Given the description of an element on the screen output the (x, y) to click on. 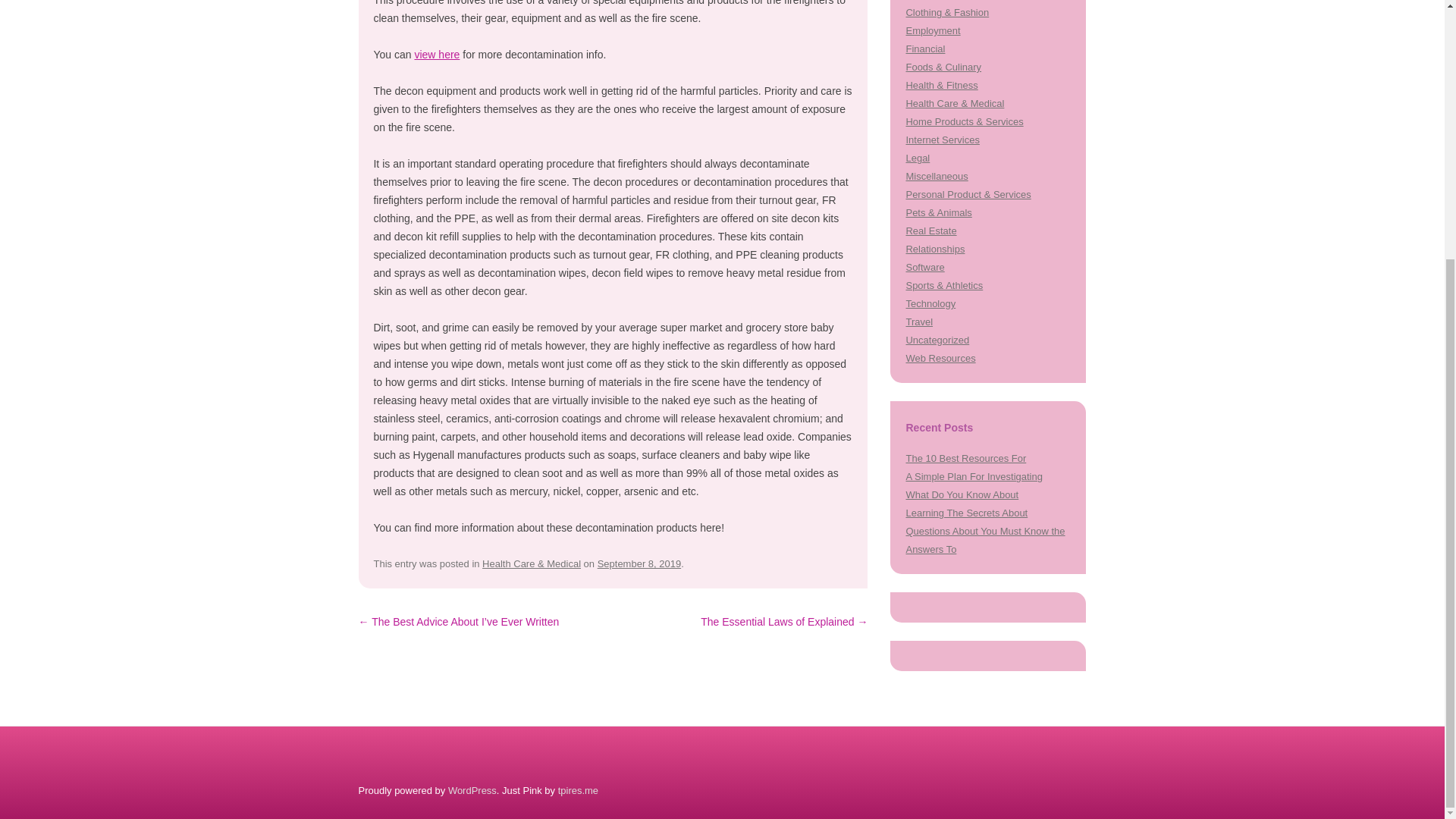
September 8, 2019 (638, 563)
Financial (924, 48)
Web Resources (940, 357)
10:33 am (638, 563)
The 10 Best Resources For (965, 458)
Technology (930, 303)
Software (924, 266)
Real Estate (930, 230)
Employment (932, 30)
Travel (919, 321)
